Given the description of an element on the screen output the (x, y) to click on. 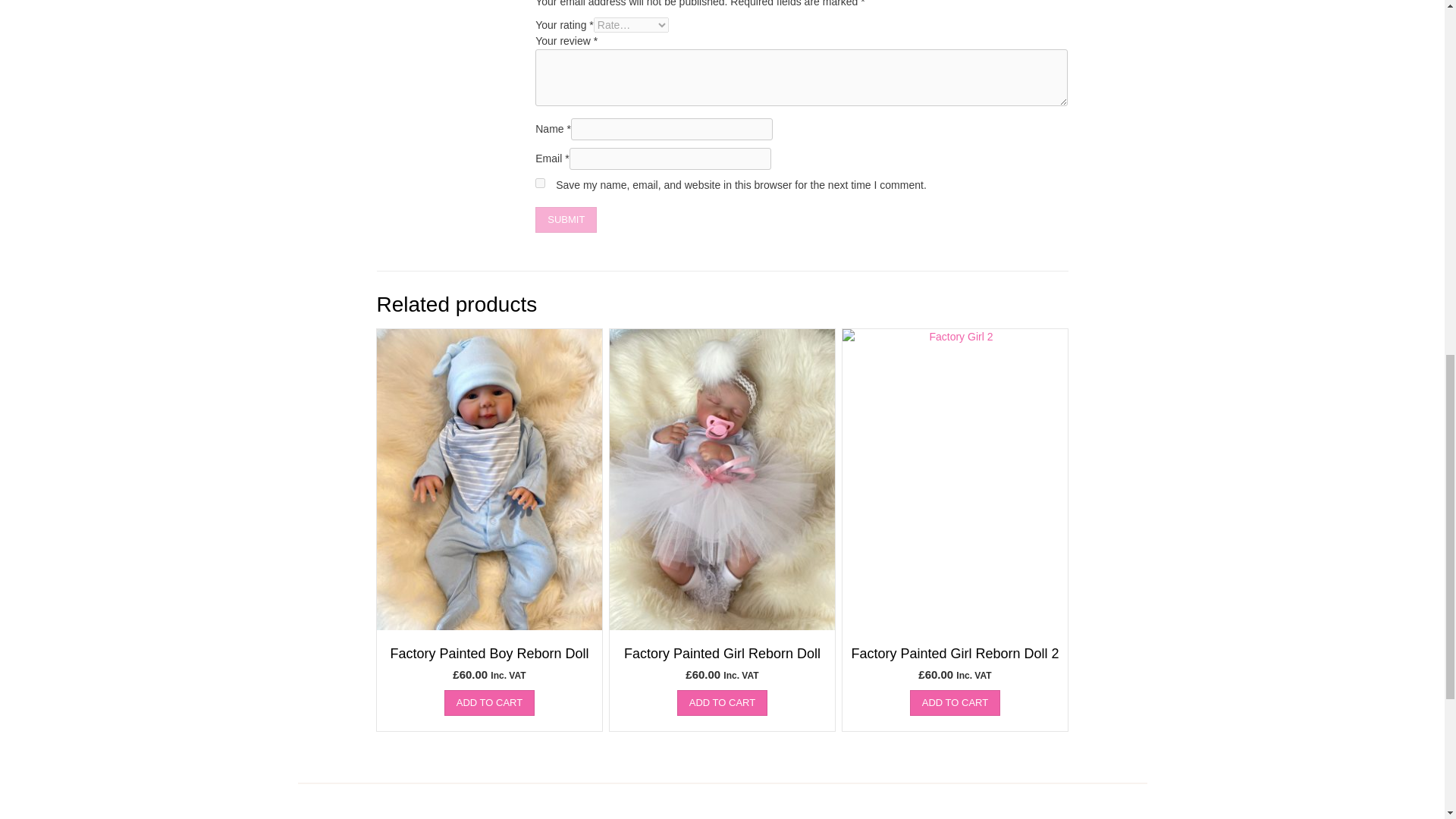
yes (539, 183)
Submit (565, 219)
ADD TO CART (722, 702)
ADD TO CART (489, 702)
ADD TO CART (955, 702)
Submit (565, 219)
